Given the description of an element on the screen output the (x, y) to click on. 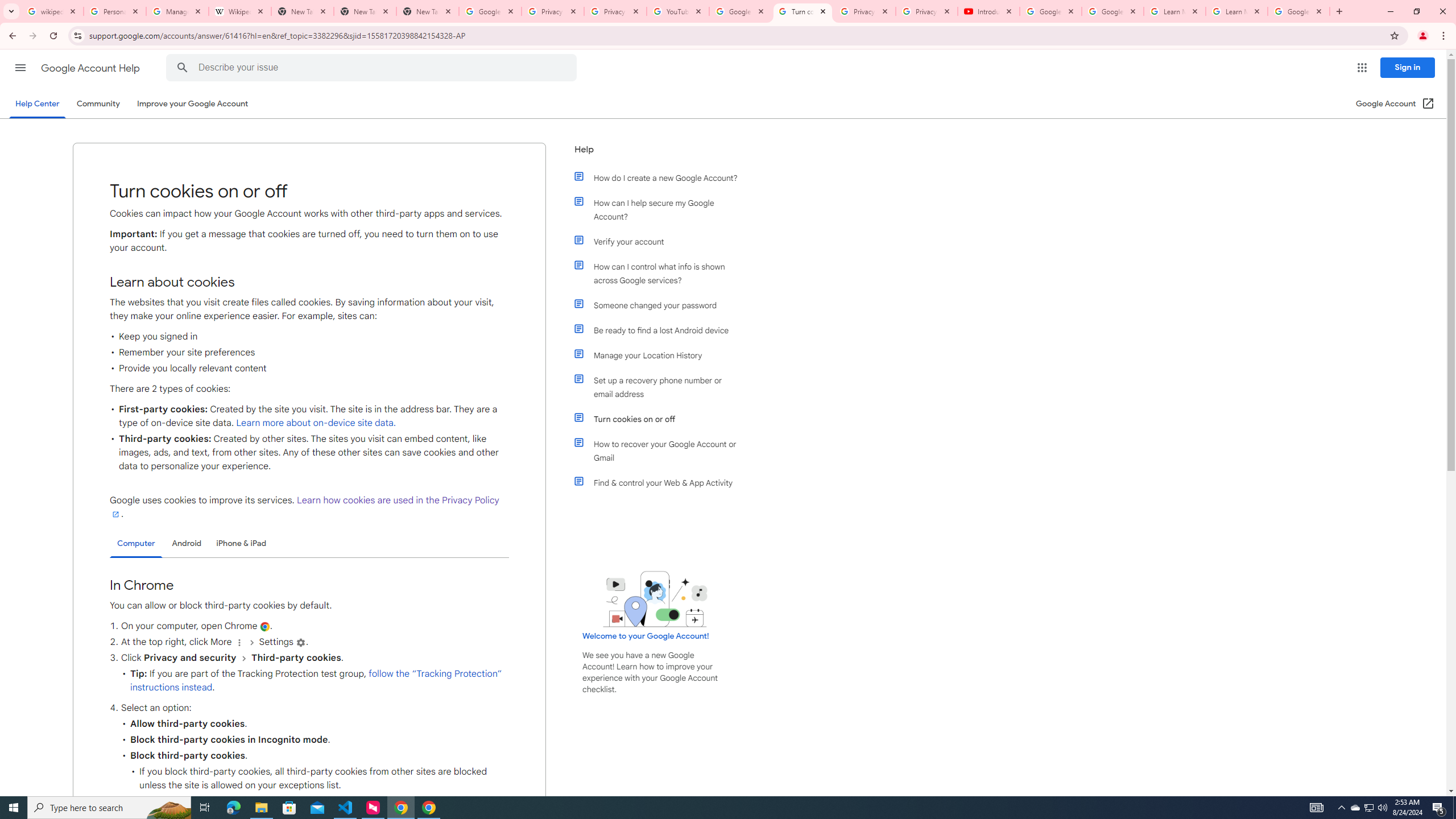
Manage your Location History (661, 355)
Google Account Help (1050, 11)
YouTube (678, 11)
How to recover your Google Account or Gmail (661, 450)
Computer (136, 543)
Google Account Help (740, 11)
Personalization & Google Search results - Google Search Help (114, 11)
